Given the description of an element on the screen output the (x, y) to click on. 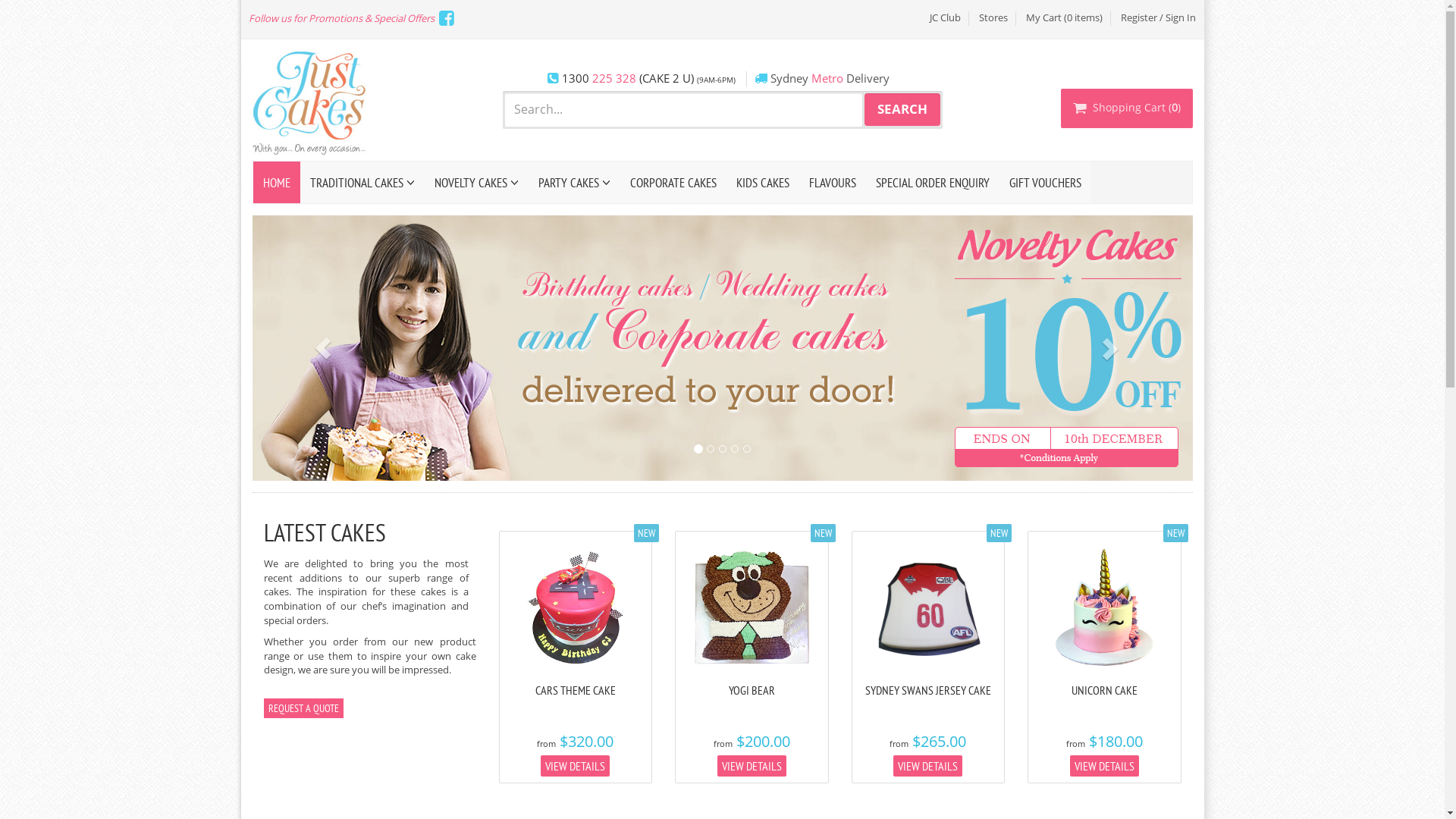
GIFT VOUCHERS Element type: text (1045, 182)
JC Club Element type: text (944, 17)
VIEW DETAILS Element type: text (574, 765)
CORPORATE CAKES Element type: text (673, 182)
PARTY CAKES  Element type: text (573, 182)
  Shopping Cart (0) Element type: text (1126, 108)
SPECIAL ORDER ENQUIRY Element type: text (932, 182)
REQUEST A QUOTE Element type: text (303, 708)
VIEW DETAILS Element type: text (927, 765)
VIEW DETAILS Element type: text (751, 765)
Sydney Metro Delivery Element type: text (829, 78)
TRADITIONAL CAKES  Element type: text (362, 182)
Register / Sign In Element type: text (1157, 17)
VIEW DETAILS Element type: text (1104, 765)
HOME Element type: text (276, 182)
FLAVOURS Element type: text (832, 182)
Stores Element type: text (993, 17)
KIDS CAKES Element type: text (762, 182)
SEARCH Element type: text (902, 109)
NOVELTY CAKES  Element type: text (476, 182)
My Cart (0 items) Element type: text (1064, 17)
